Given the description of an element on the screen output the (x, y) to click on. 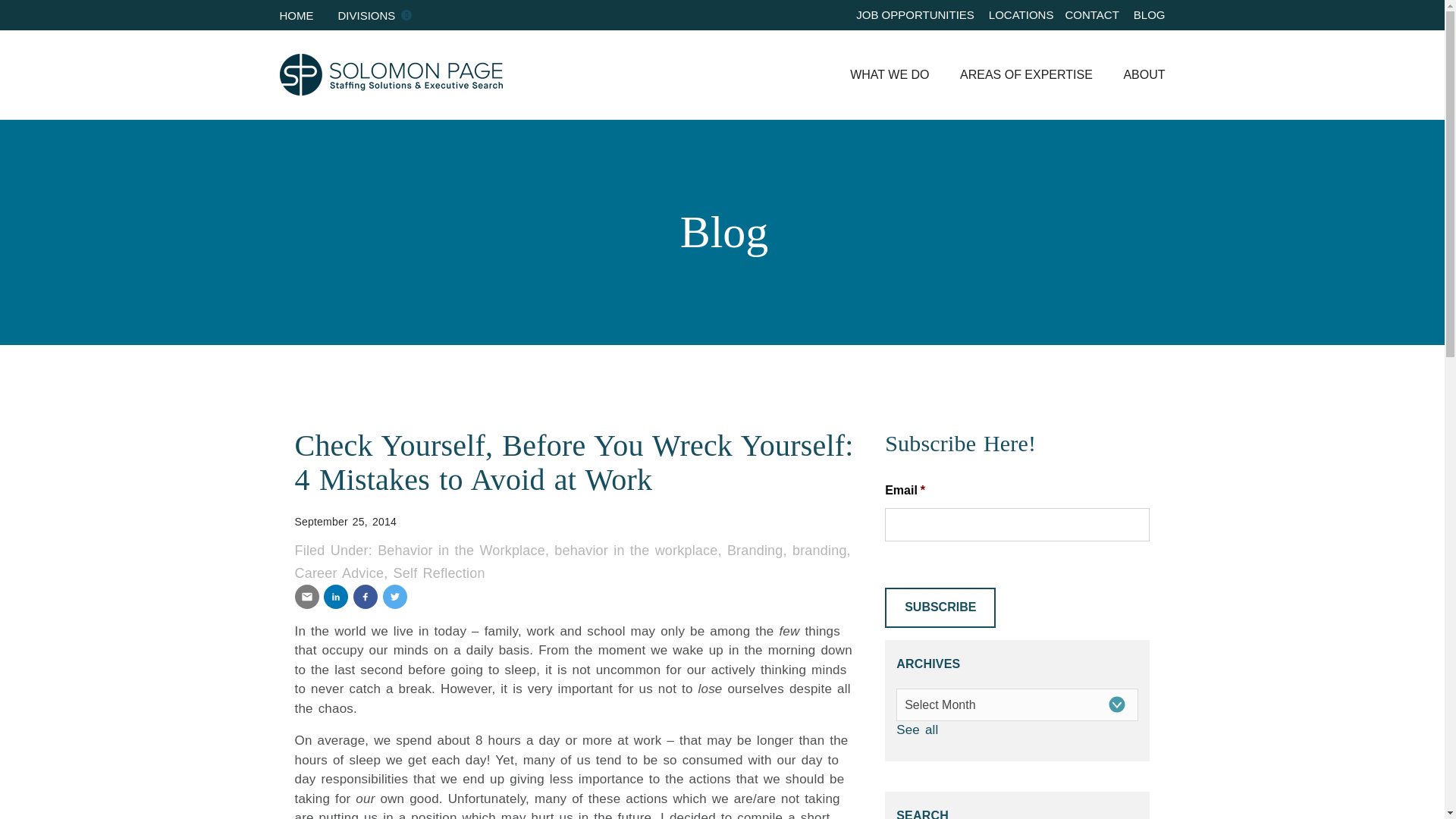
twitter (394, 596)
linkedin (335, 596)
CONTACT (1091, 13)
AREAS OF EXPERTISE (1011, 74)
WHAT WE DO (874, 74)
Mail (306, 596)
facebook (365, 596)
HOME (296, 13)
branding (819, 549)
Subscribe (940, 608)
DIVISIONS (366, 13)
Career Advice (339, 572)
behavior in the workplace (635, 549)
BLOG (1150, 13)
Self Reflection (438, 572)
